Given the description of an element on the screen output the (x, y) to click on. 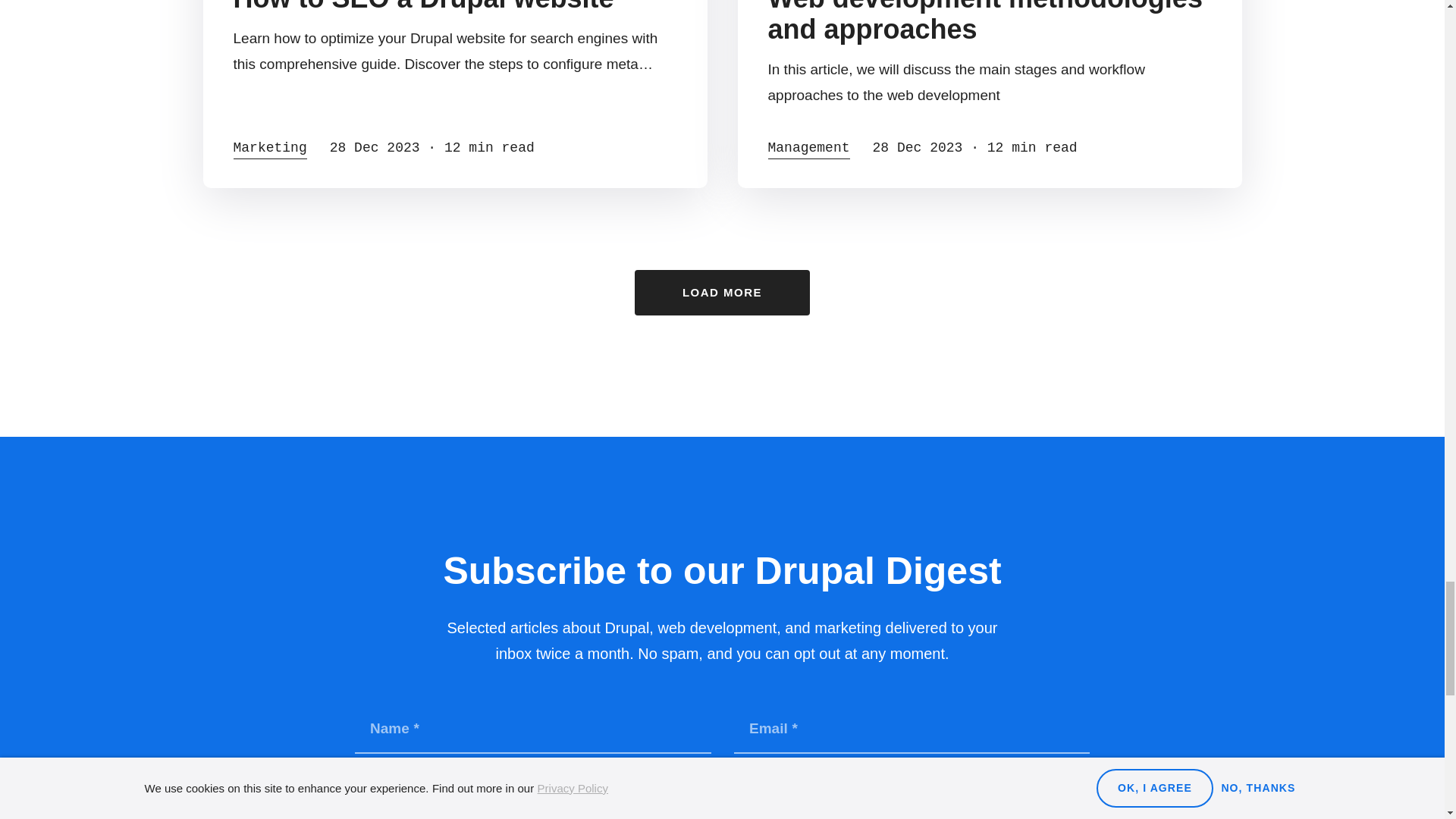
LOAD MORE (722, 292)
Go to next page (721, 292)
